Given the description of an element on the screen output the (x, y) to click on. 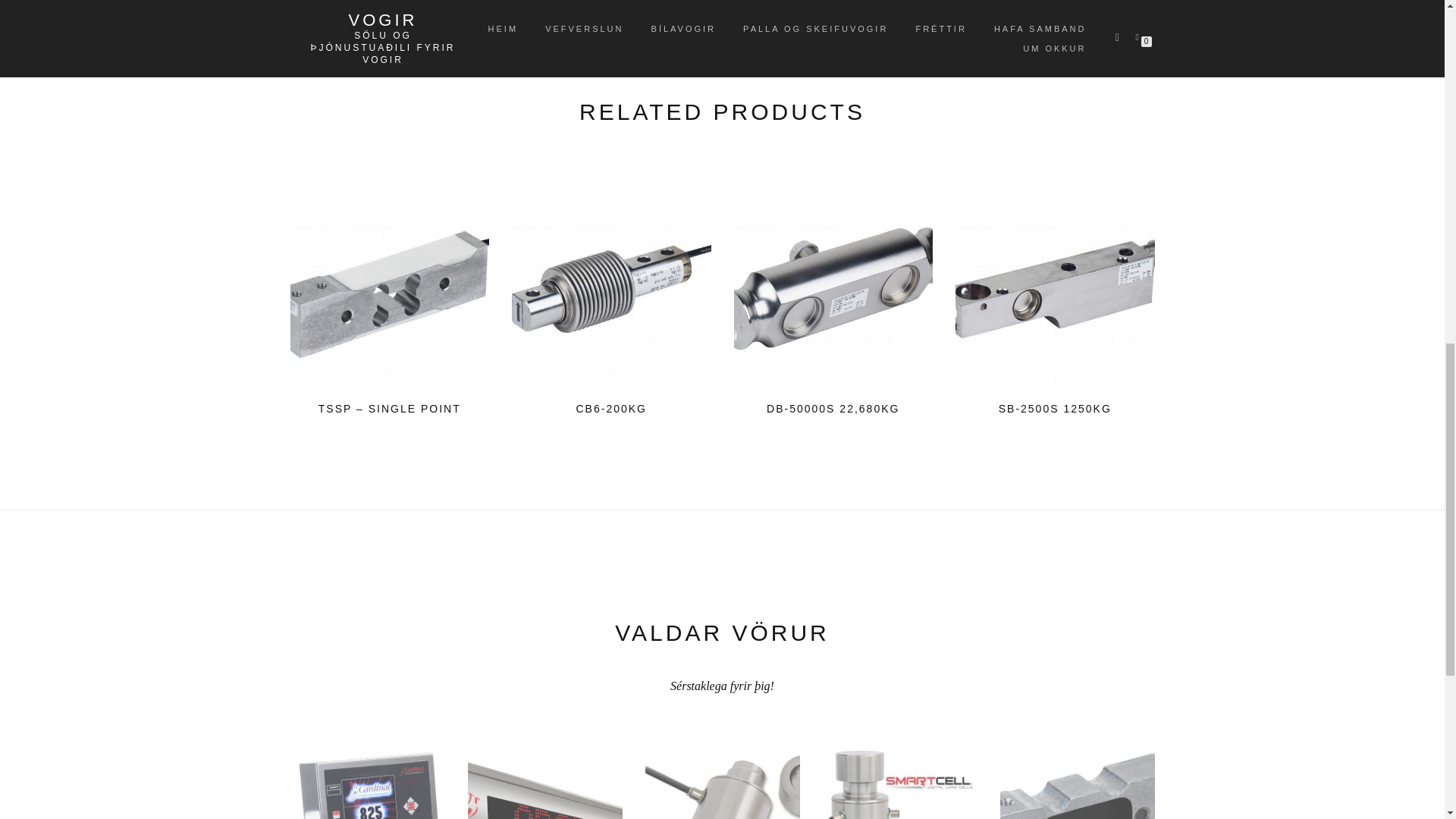
TSP-5KG-1024x835 (389, 288)
SB25000S-kraftnemi (1054, 288)
DB-75000S-1024x835 (832, 288)
CB6-1024x835 (611, 288)
